Given the description of an element on the screen output the (x, y) to click on. 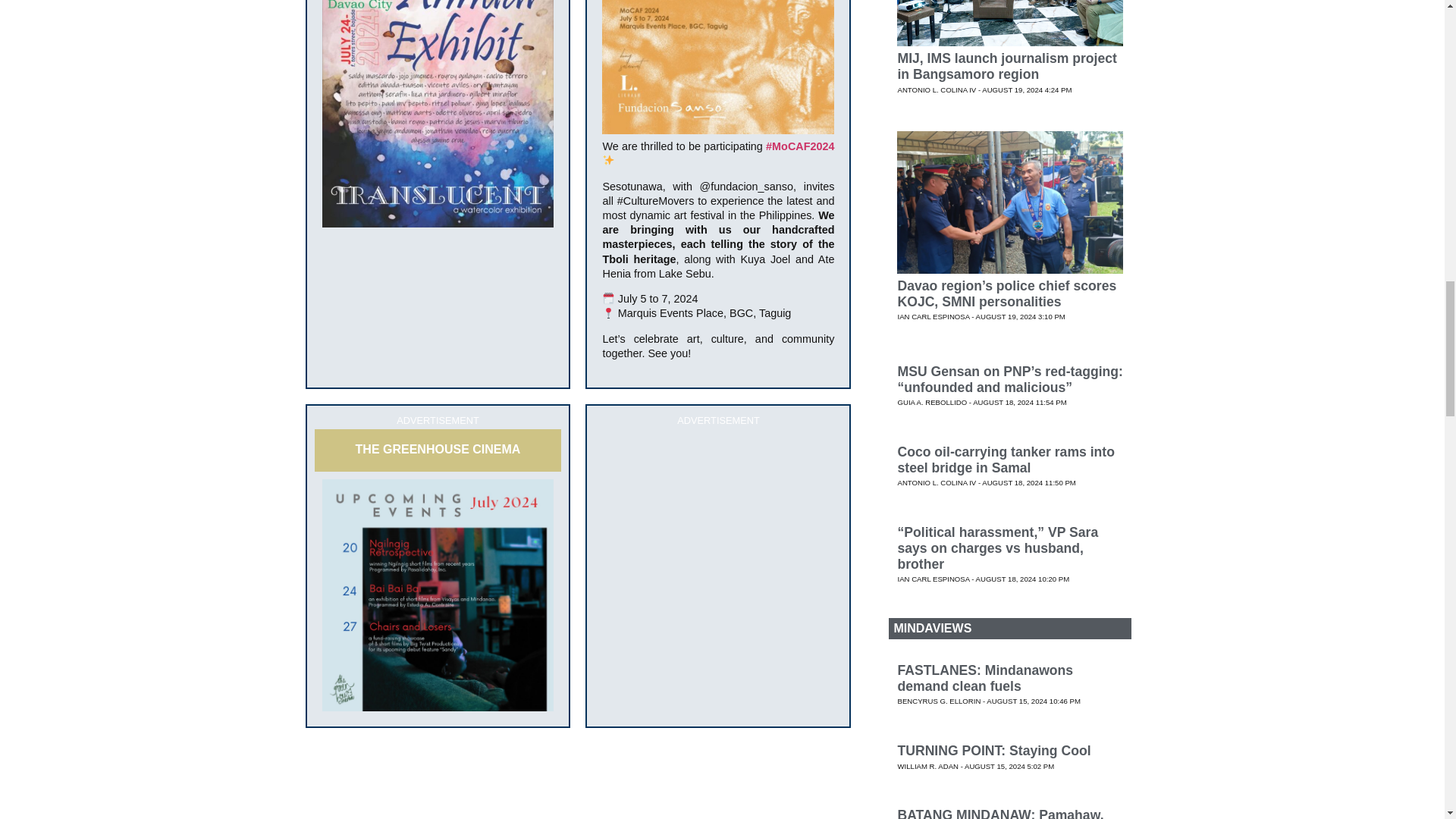
TURNING POINT: Staying Cool (993, 750)
Coco oil-carrying tanker rams into steel bridge in Samal (1004, 459)
FASTLANES: Mindanawons demand clean fuels (984, 677)
BATANG MINDANAW: Pamahaw, Paniudto, Panihapon (999, 813)
MIJ, IMS launch journalism project in Bangsamoro region (1006, 65)
